Given the description of an element on the screen output the (x, y) to click on. 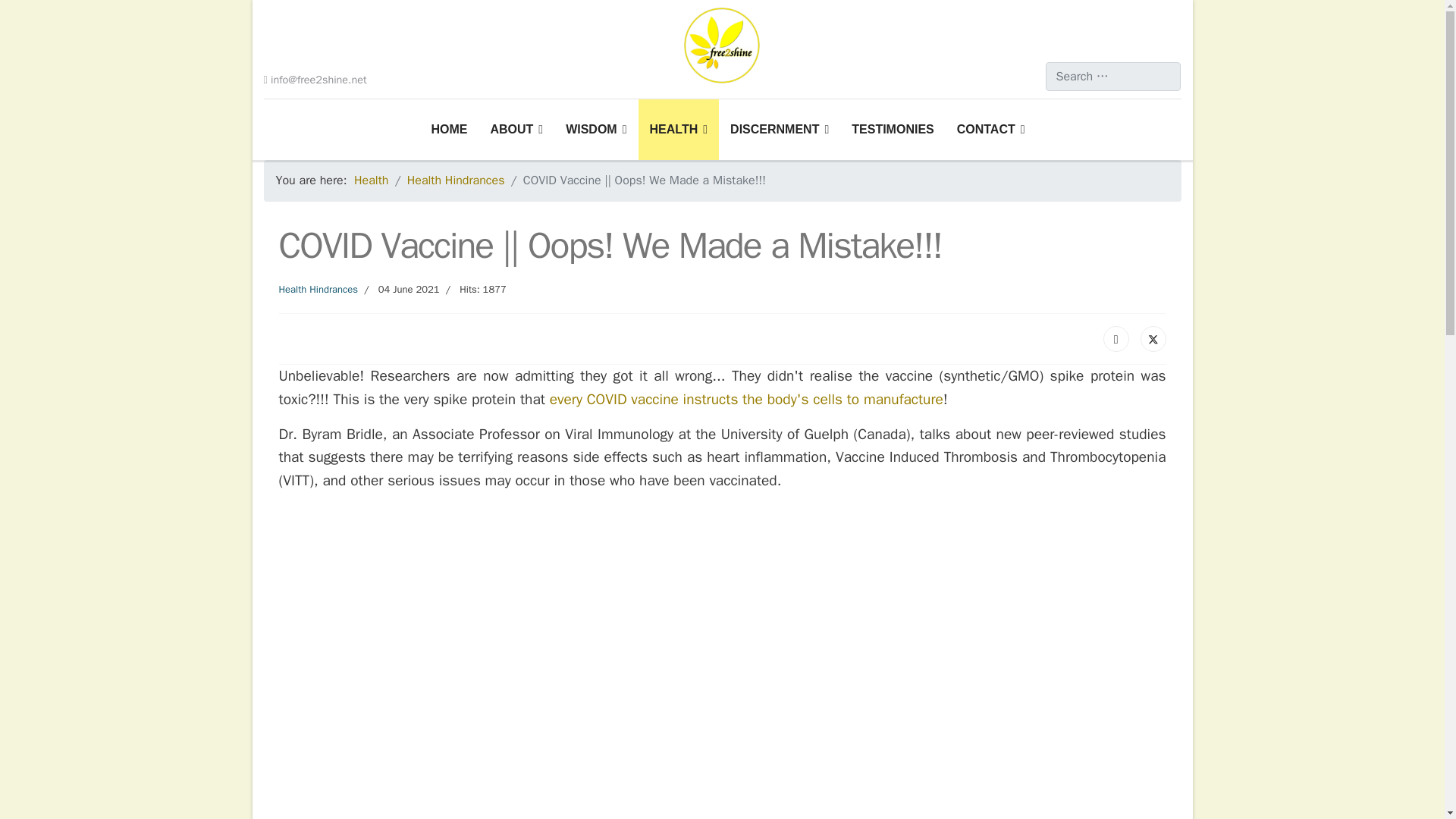
TESTIMONIES (892, 129)
Category: Health Hindrances (318, 289)
WISDOM (595, 129)
Health Hindrances (318, 288)
clots in the blood vessels blocking the flow of blood (980, 456)
ABOUT (516, 129)
Thrombocytopenia (1107, 456)
Twitter (1153, 338)
CONTACT (984, 129)
Published: 04 June 2021 (398, 289)
HOME (449, 129)
Health Hindrances (456, 180)
Thrombosis (980, 456)
Facebook (1116, 338)
